Given the description of an element on the screen output the (x, y) to click on. 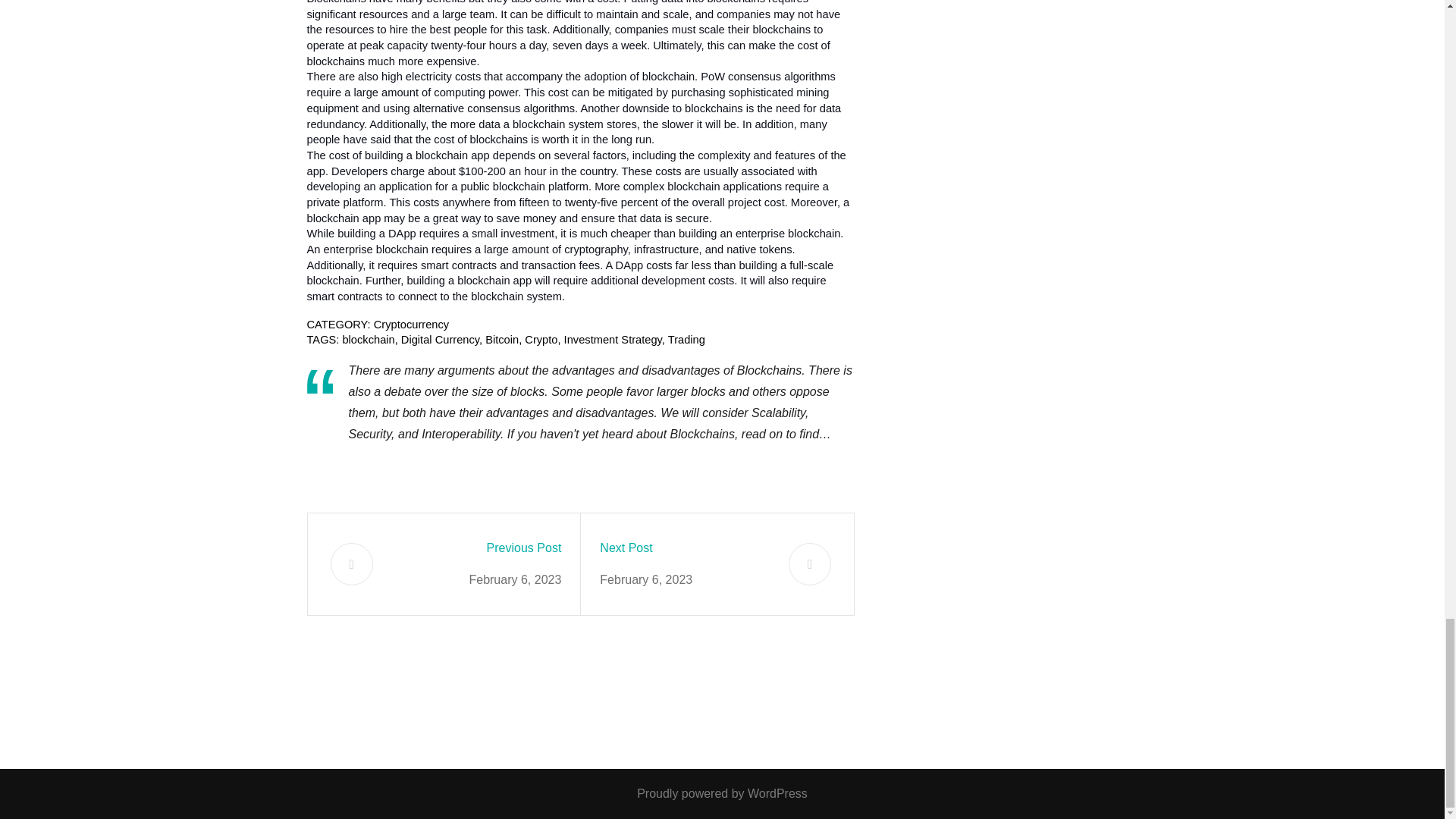
February 6, 2023 (514, 579)
February 6, 2023 (646, 579)
